Given the description of an element on the screen output the (x, y) to click on. 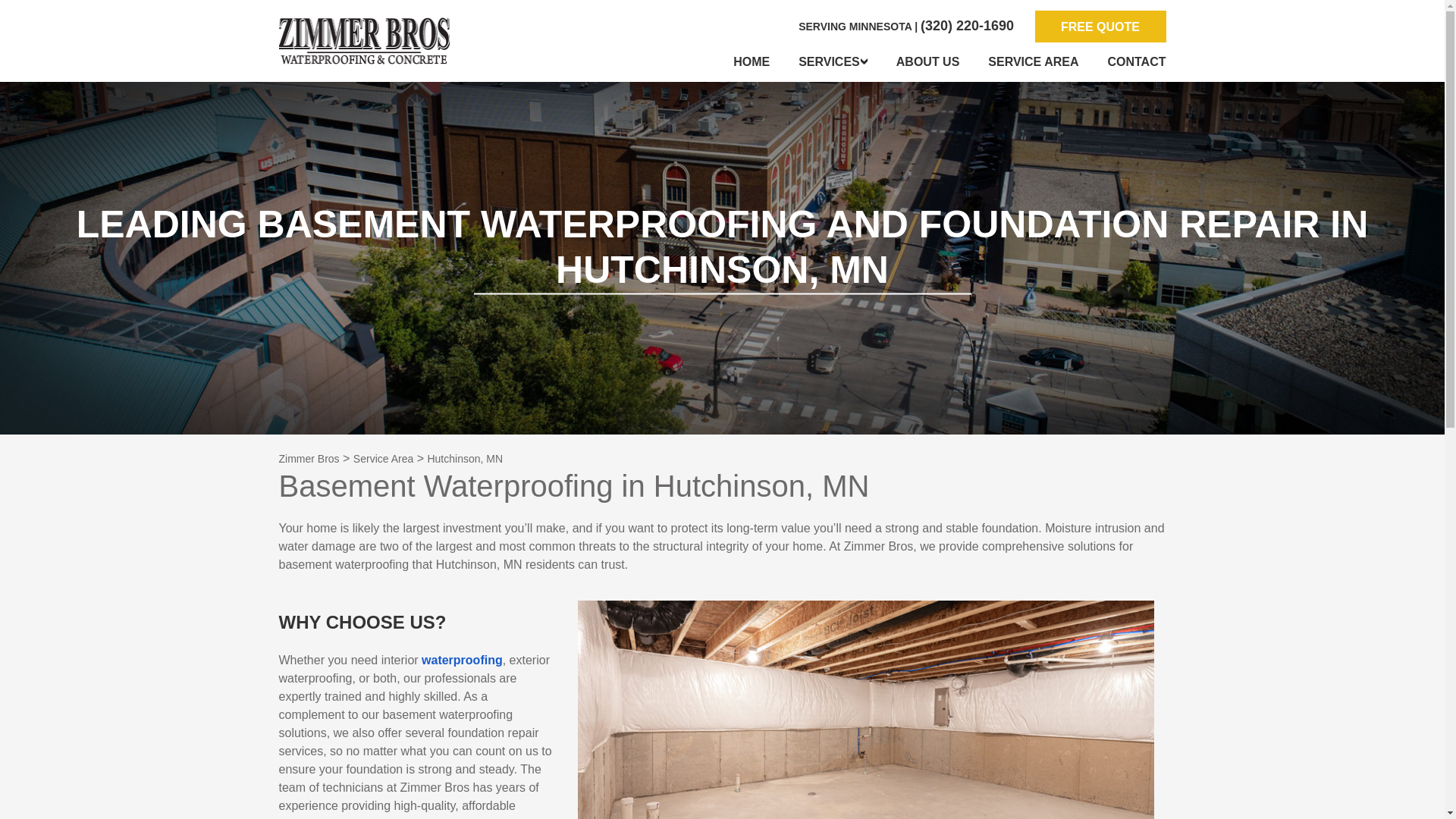
ABOUT US (927, 62)
FREE QUOTE (1099, 26)
Home (751, 62)
SERVICES (832, 62)
HOME (751, 62)
Services (832, 62)
